Given the description of an element on the screen output the (x, y) to click on. 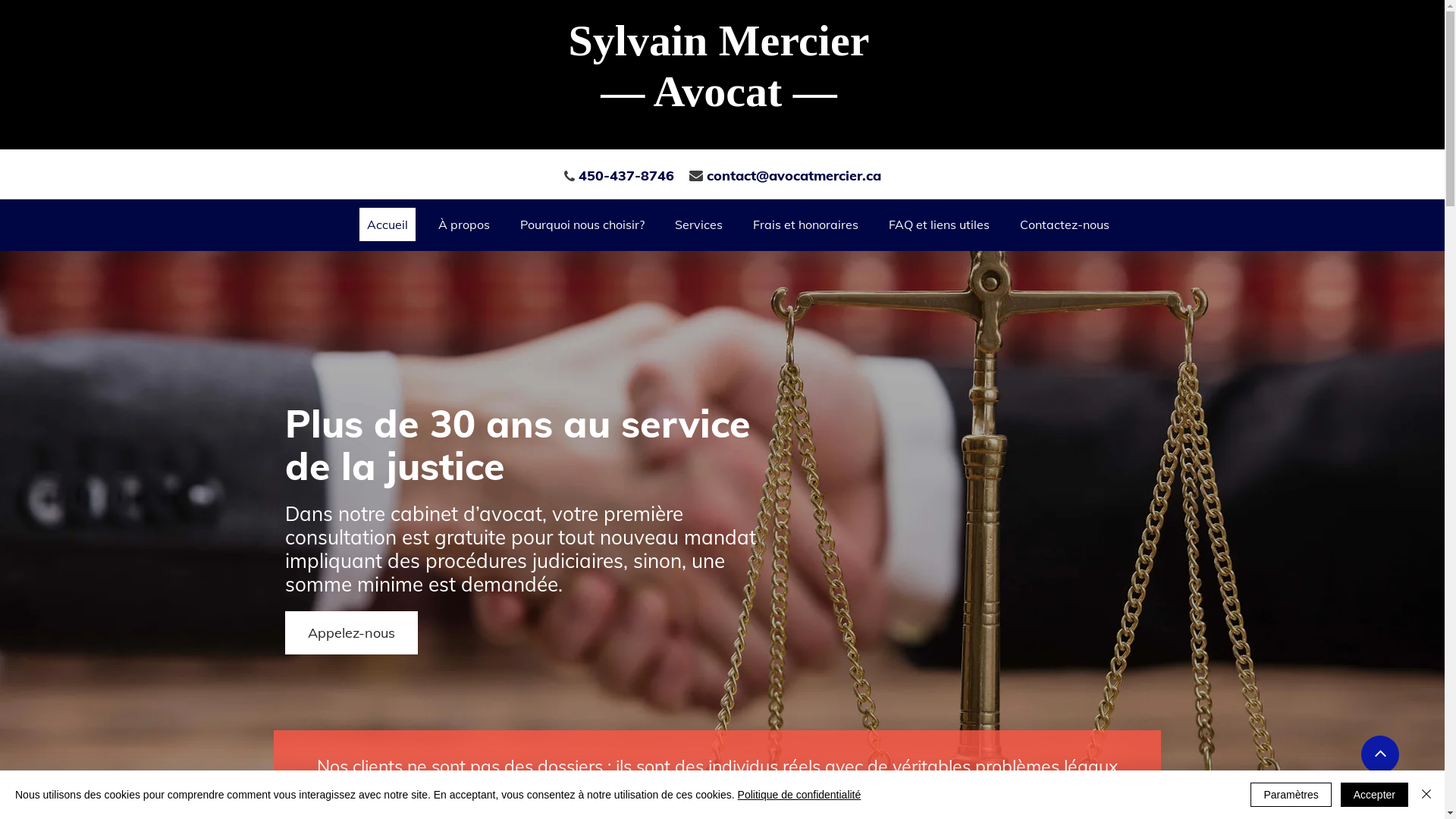
FAQ et liens utiles Element type: text (939, 224)
Frais et honoraires Element type: text (805, 224)
450-437-8746 Element type: text (625, 177)
Contactez-nous Element type: text (1064, 224)
Accueil Element type: text (387, 224)
Pourquoi nous choisir? Element type: text (582, 224)
contact@avocatmercier.ca Element type: text (793, 175)
Accepter Element type: text (1374, 794)
Appelez-nous Element type: text (351, 632)
